Given the description of an element on the screen output the (x, y) to click on. 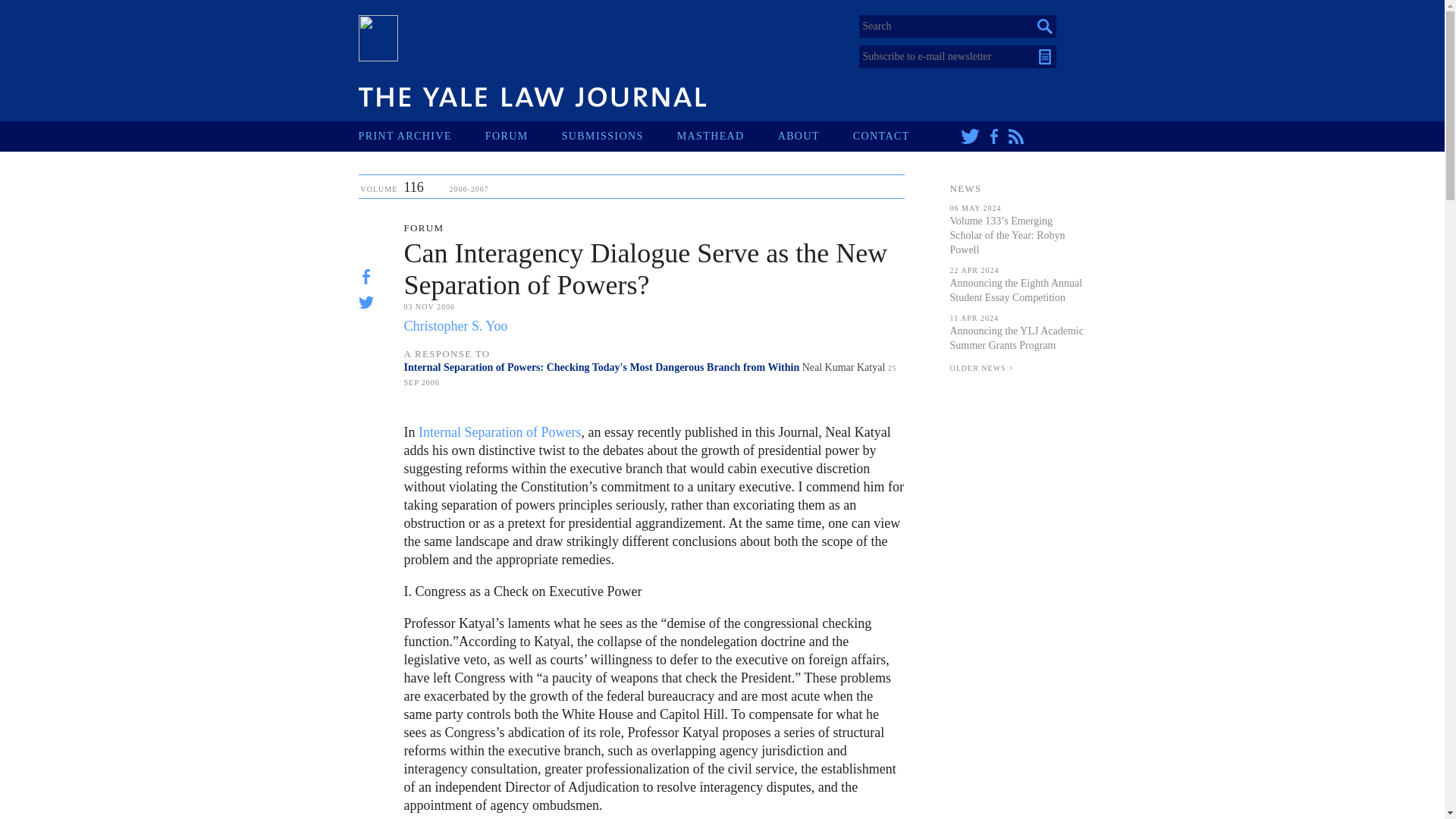
NEWS (965, 188)
FORUM (523, 136)
MASTHEAD (727, 136)
SUBMISSIONS (619, 136)
Internal Separation of Powers (499, 432)
CONTACT (898, 136)
Announcing the Eighth Annual Student Essay Competition (1015, 290)
Christopher S. Yoo (454, 325)
PRINT ARCHIVE (421, 136)
ABOUT (815, 136)
Announcing the YLJ Academic Summer Grants Program (1016, 338)
